Given the description of an element on the screen output the (x, y) to click on. 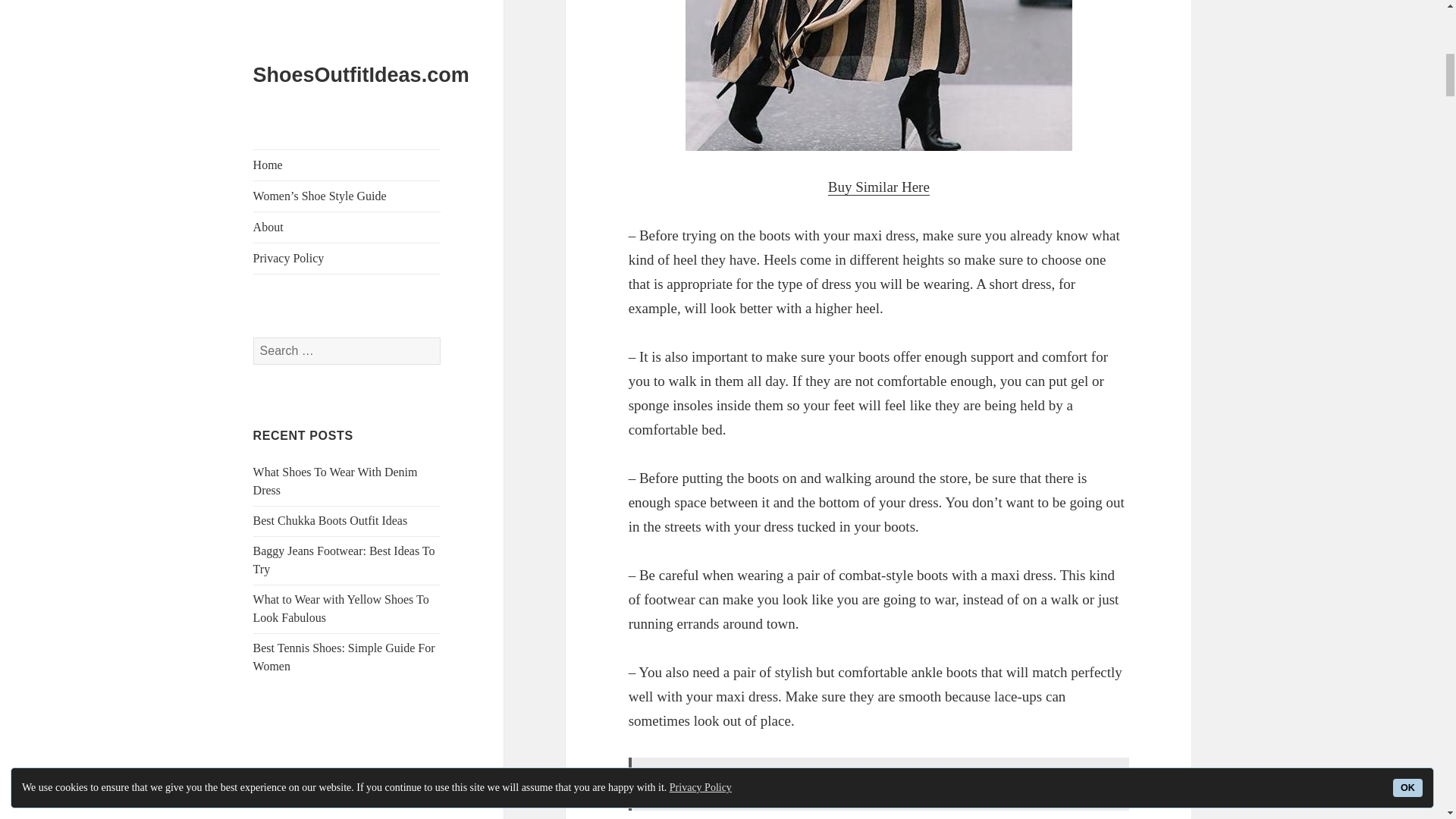
Buy Similar Here (879, 187)
Can I Wear Boots With A Maxi Dress: Easy Guide 2023 (878, 75)
